Given the description of an element on the screen output the (x, y) to click on. 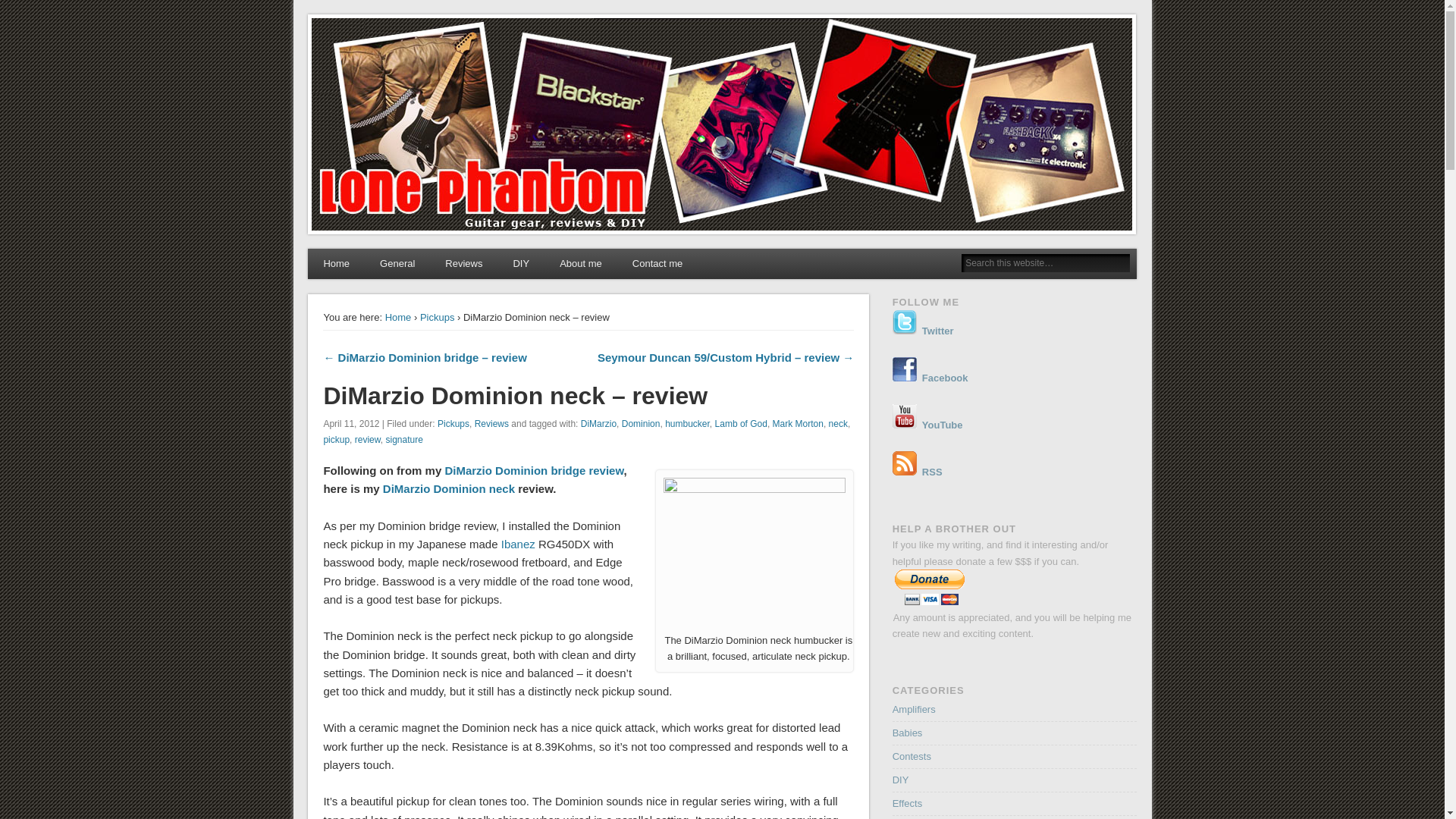
Pickups (437, 317)
General (397, 263)
Pickups (453, 423)
humbucker (687, 423)
DiMarzio (597, 423)
DiMarzio Dominion neck (448, 488)
Reviews (491, 423)
Mark Morton (798, 423)
Reviews (463, 263)
Search (11, 7)
Lone Phantom (380, 37)
DiMarzio Dominion bridge humbucker (754, 554)
neck (837, 423)
pickup (336, 439)
Home (336, 263)
